Given the description of an element on the screen output the (x, y) to click on. 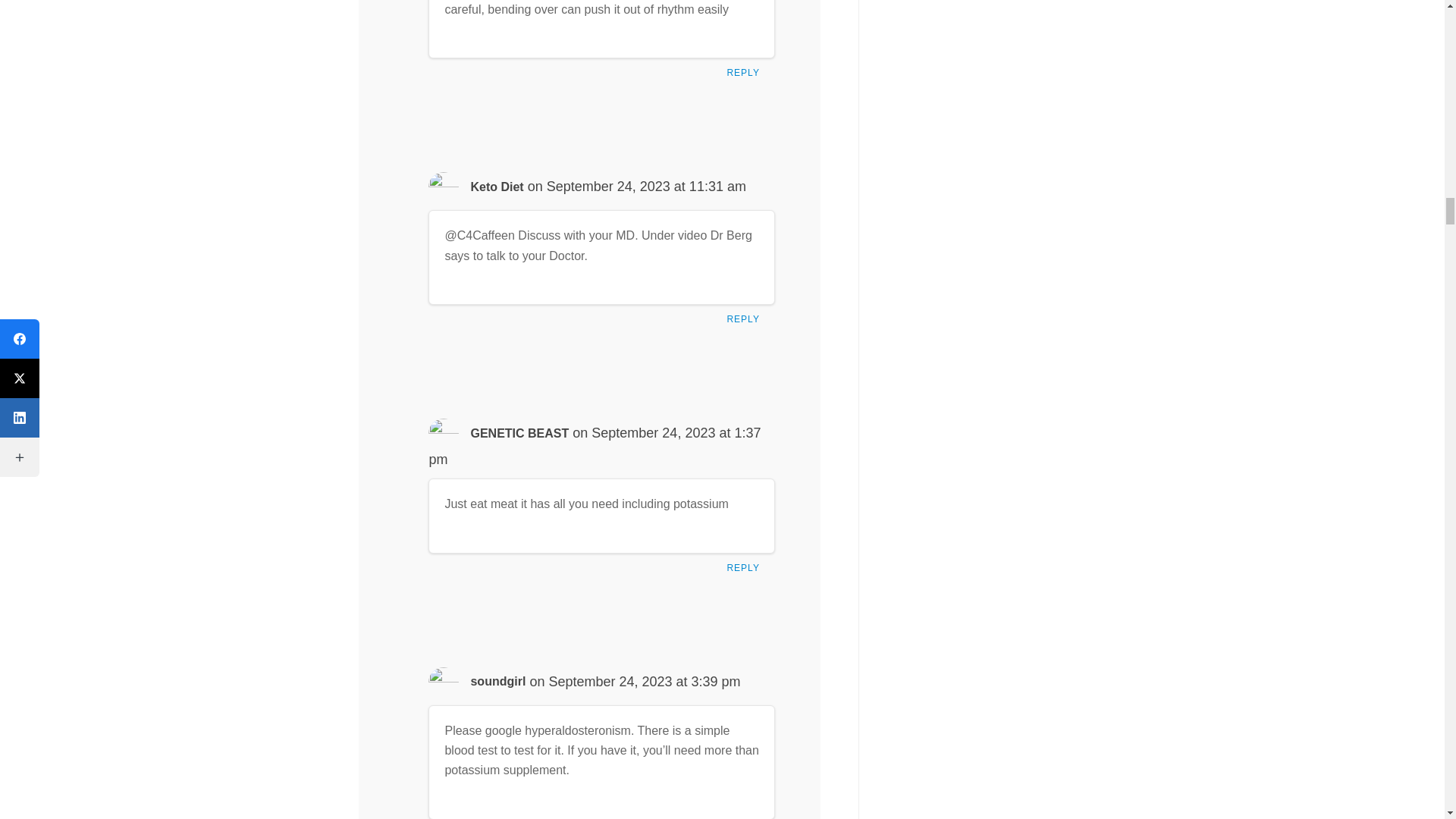
REPLY (746, 76)
REPLY (746, 322)
REPLY (746, 571)
